Given the description of an element on the screen output the (x, y) to click on. 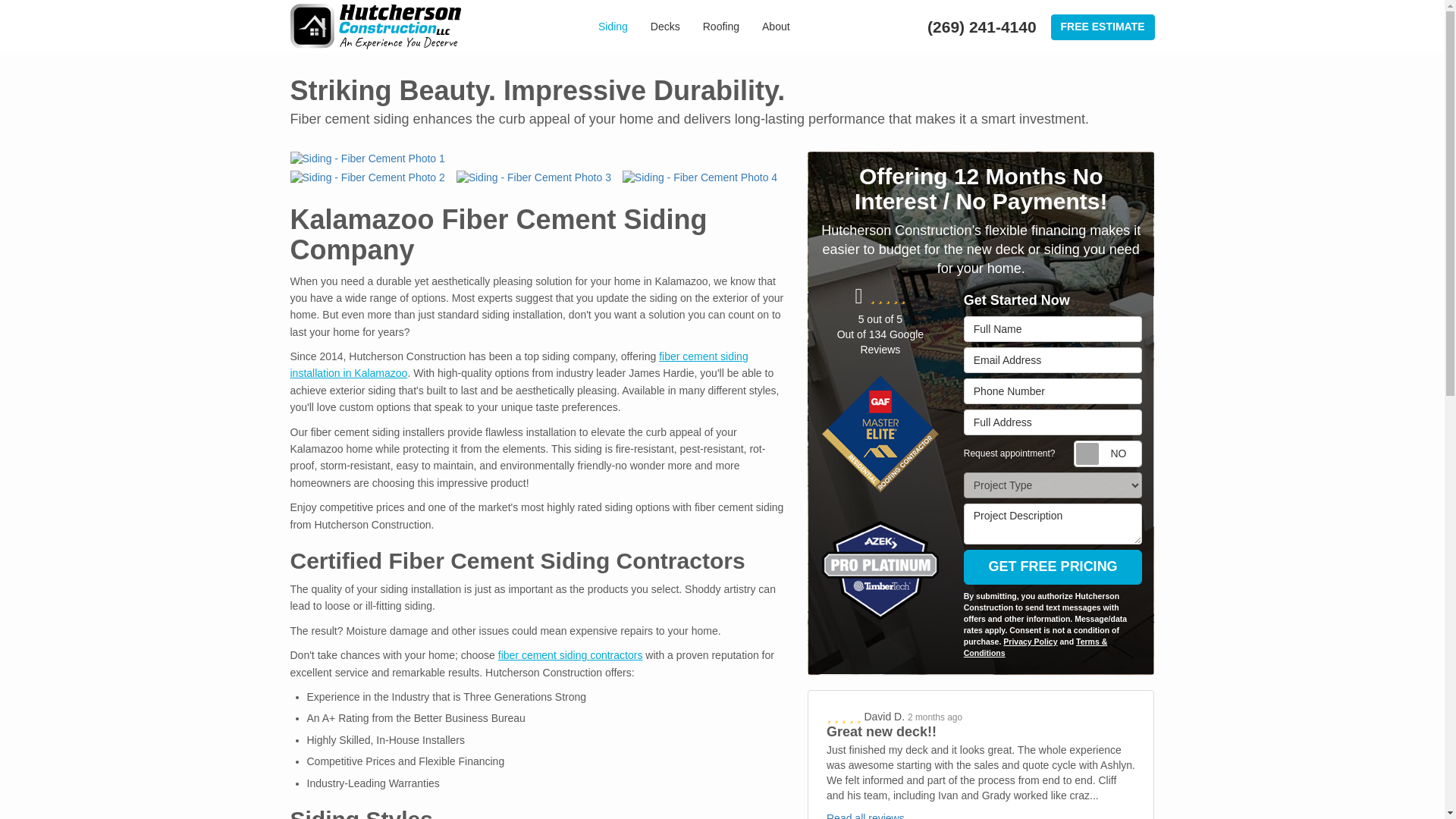
FREE ESTIMATE (1102, 27)
Siding (612, 26)
5 Stars (845, 716)
About (776, 26)
Roofing (721, 26)
Decks (665, 26)
FREE ESTIMATE (1102, 27)
